Given the description of an element on the screen output the (x, y) to click on. 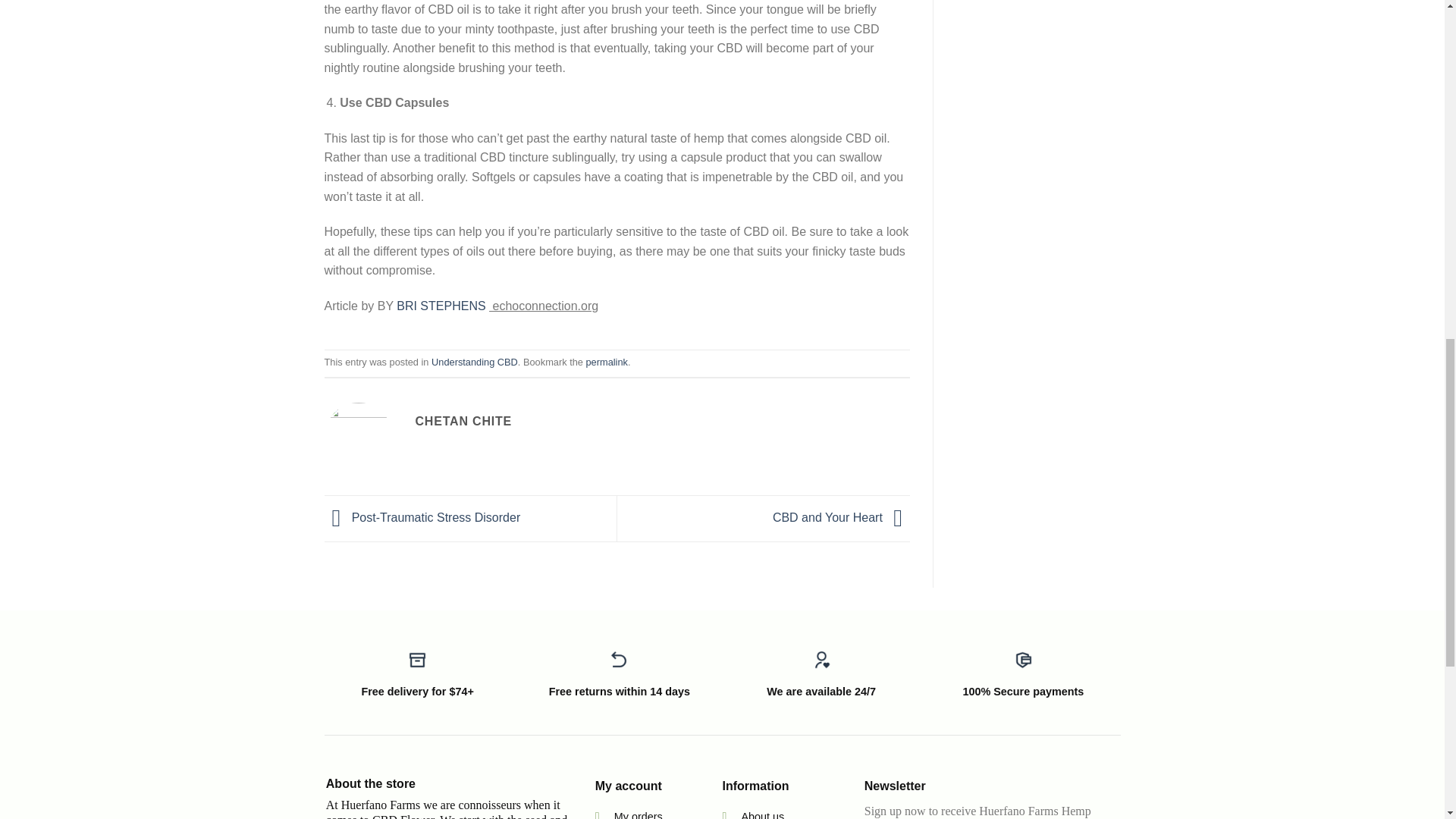
Post-Traumatic Stress Disorder (422, 517)
Understanding CBD (474, 361)
About us (762, 814)
permalink (606, 361)
My orders (638, 814)
Permalink to CBD Oil for Taste-Sensitive Individuals (606, 361)
CBD and Your Heart (841, 517)
BRI STEPHENS  (442, 305)
